Given the description of an element on the screen output the (x, y) to click on. 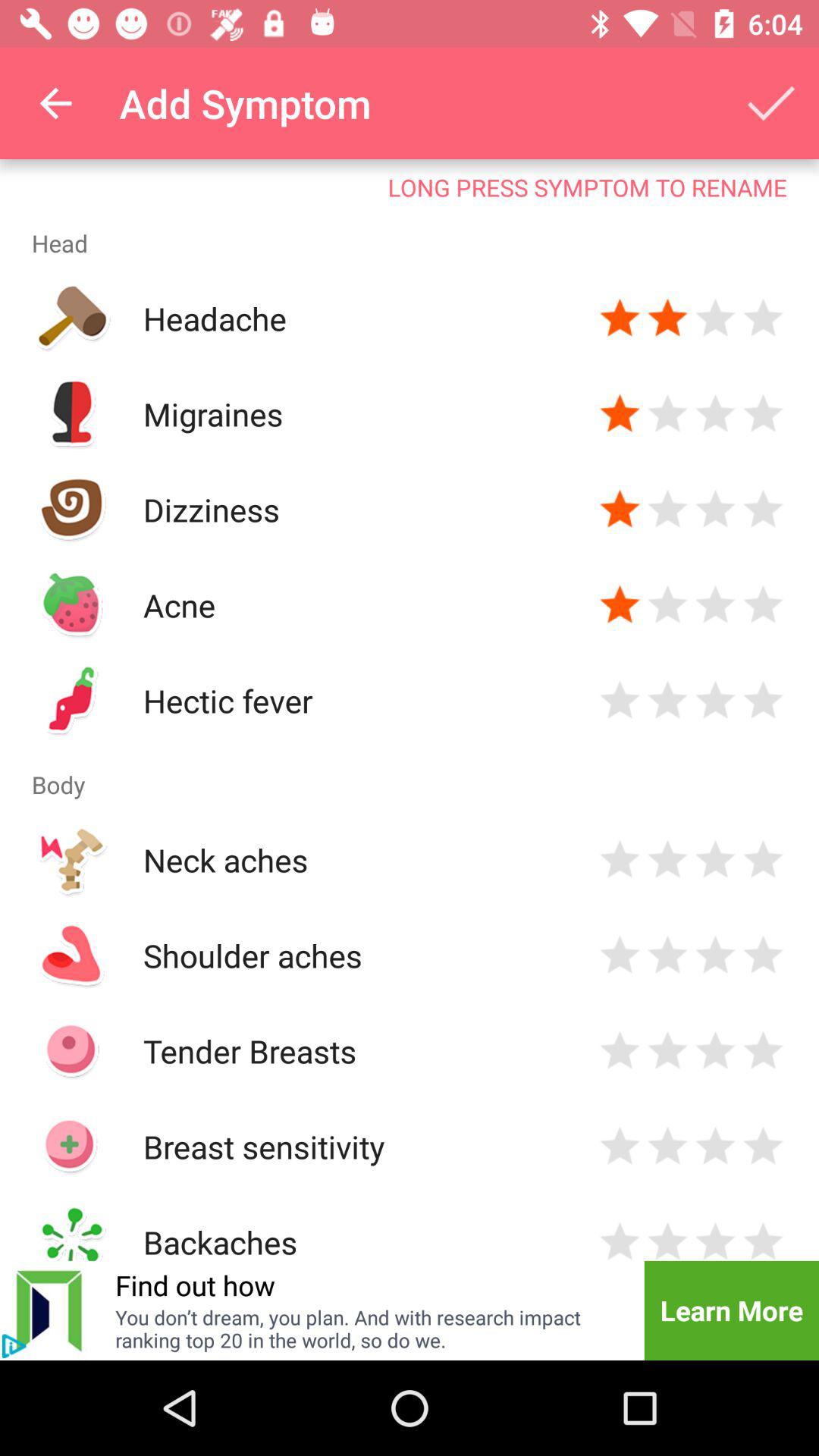
give a star rating (715, 1239)
